Given the description of an element on the screen output the (x, y) to click on. 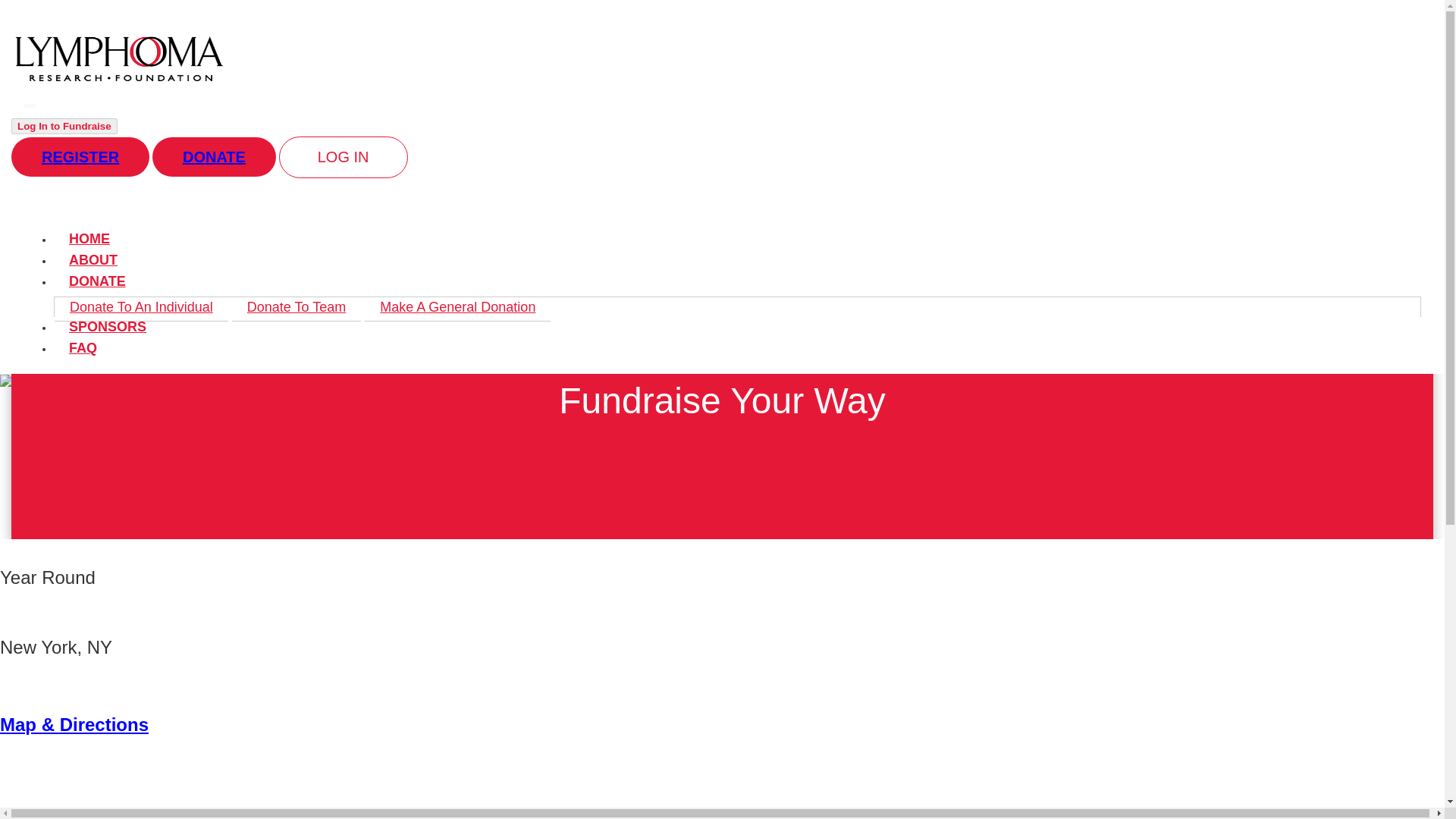
Lymphoma Research Foundation (117, 78)
REGISTER (80, 156)
Donate To Team (296, 307)
LOG IN (343, 157)
FAQ (82, 347)
SPONSORS (107, 326)
ABOUT (92, 259)
Log In to Fundraise (64, 125)
HOME (89, 238)
DONATE (97, 280)
